Given the description of an element on the screen output the (x, y) to click on. 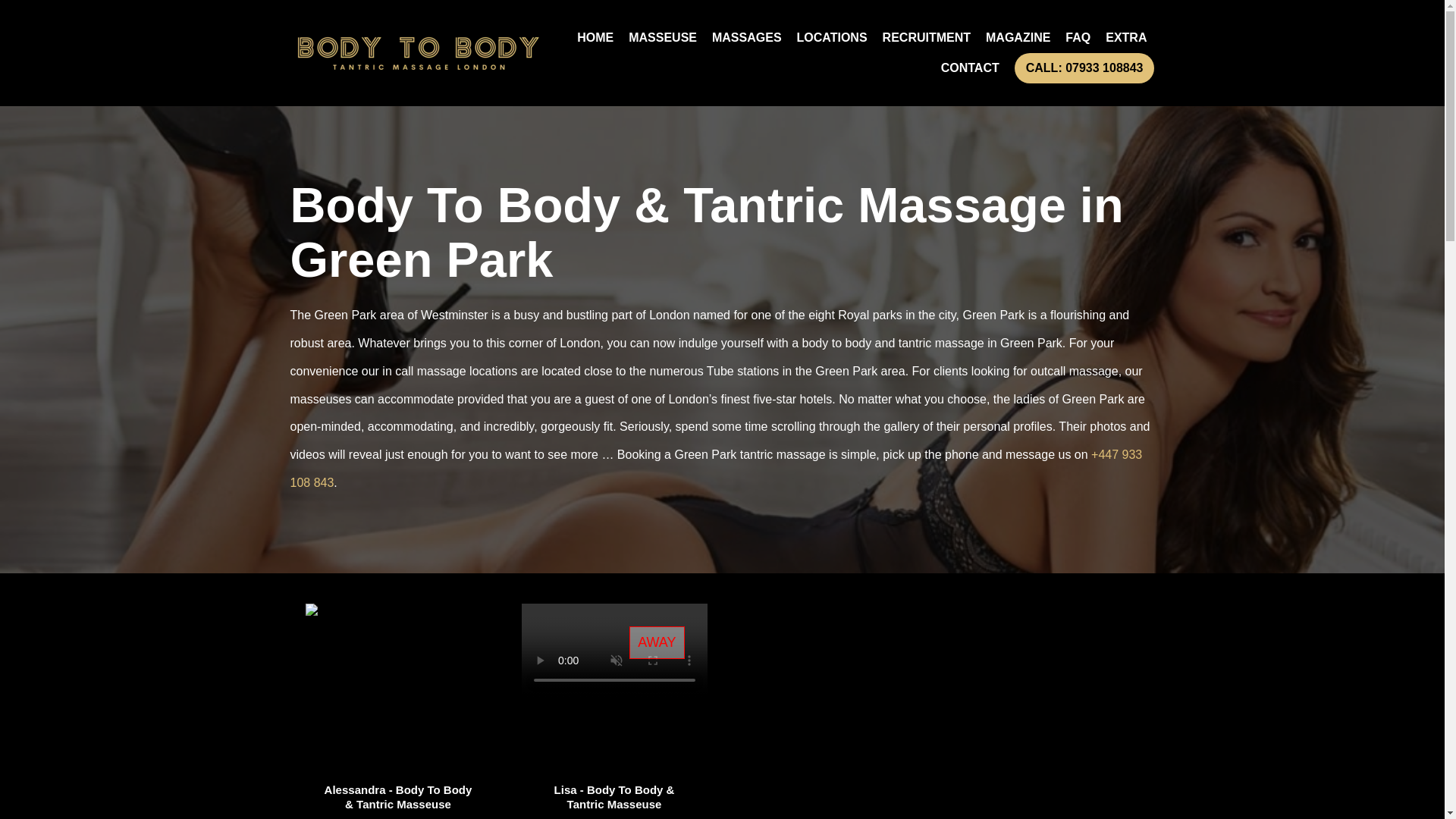
LOCATIONS (832, 37)
HOME (595, 37)
MASSAGES (746, 37)
MASSEUSE (662, 37)
